Given the description of an element on the screen output the (x, y) to click on. 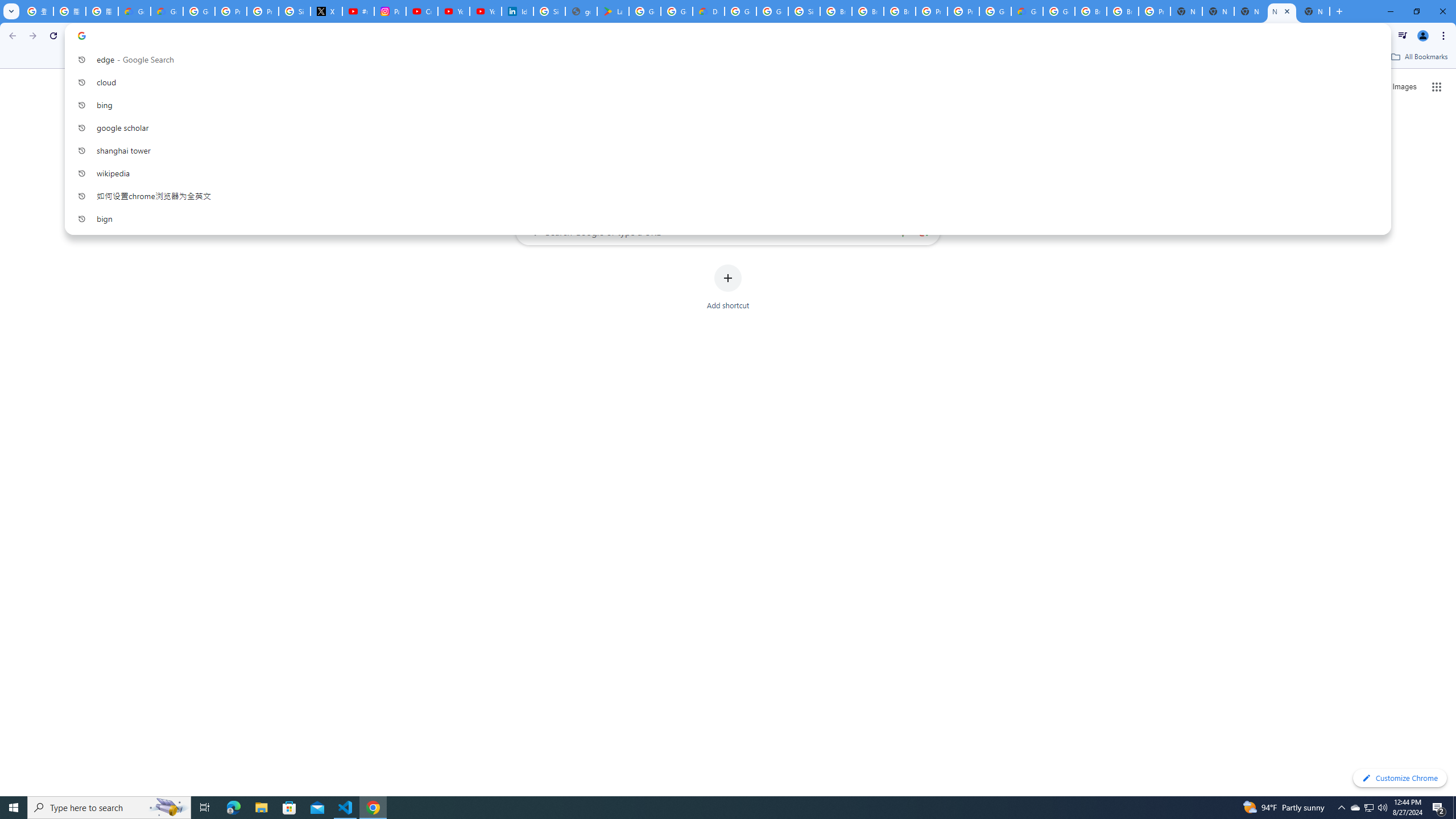
Google Cloud Privacy Notice (166, 11)
bing search from history (723, 105)
Last Shelter: Survival - Apps on Google Play (613, 11)
Sign in - Google Accounts (294, 11)
Search Google or type a URL (727, 230)
New Tab (1185, 11)
X (326, 11)
